Given the description of an element on the screen output the (x, y) to click on. 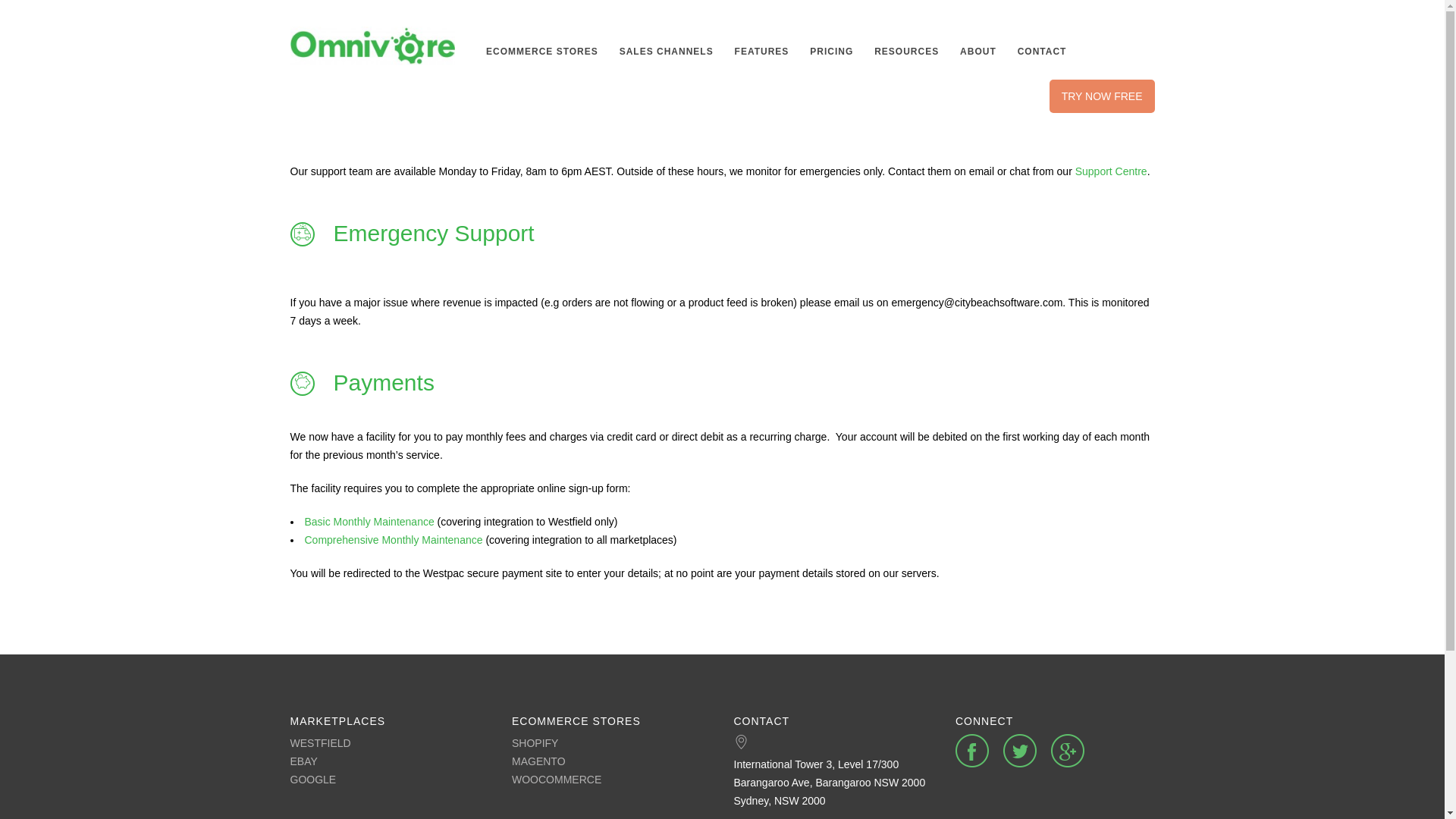
Comprehensive Monthly Maintenance Element type: text (393, 539)
Payments Element type: text (383, 382)
ABOUT Element type: text (977, 51)
EBAY Element type: text (389, 761)
GOOGLE Element type: text (389, 779)
RESOURCES Element type: text (906, 51)
Support Centre Element type: text (1111, 171)
MAGENTO Element type: text (611, 761)
ECOMMERCE STORES Element type: text (541, 51)
WOOCOMMERCE Element type: text (611, 779)
TRY NOW FREE Element type: text (1101, 95)
WESTFIELD Element type: text (389, 743)
SALES CHANNELS Element type: text (666, 51)
Emergency Support Element type: text (433, 232)
Basic Monthly Maintenance Element type: text (369, 521)
Support during business hours Element type: text (487, 101)
SHOPIFY Element type: text (611, 743)
FEATURES Element type: text (761, 51)
PRICING Element type: text (831, 51)
CONTACT Element type: text (1042, 51)
